Given the description of an element on the screen output the (x, y) to click on. 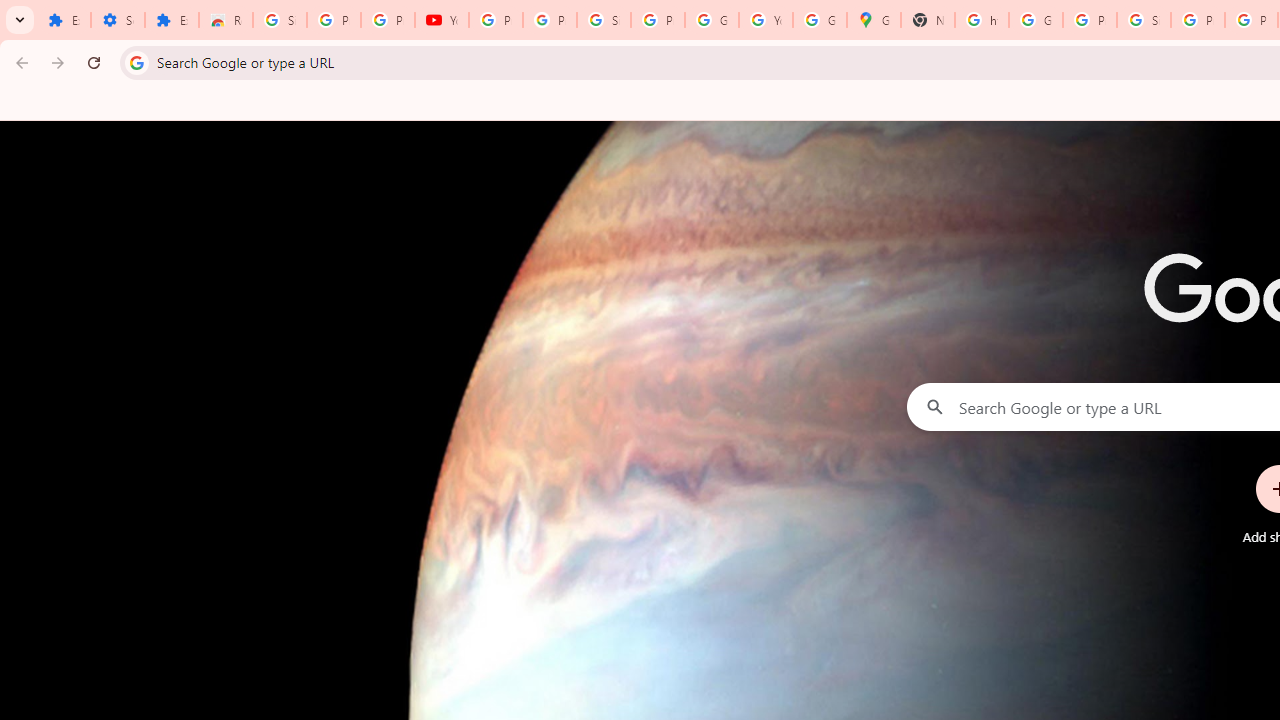
Google Account (711, 20)
Back (19, 62)
Google Maps (874, 20)
Extensions (63, 20)
Extensions (171, 20)
Search tabs (20, 20)
Sign in - Google Accounts (604, 20)
Sign in - Google Accounts (1144, 20)
Settings (117, 20)
https://scholar.google.com/ (981, 20)
